Given the description of an element on the screen output the (x, y) to click on. 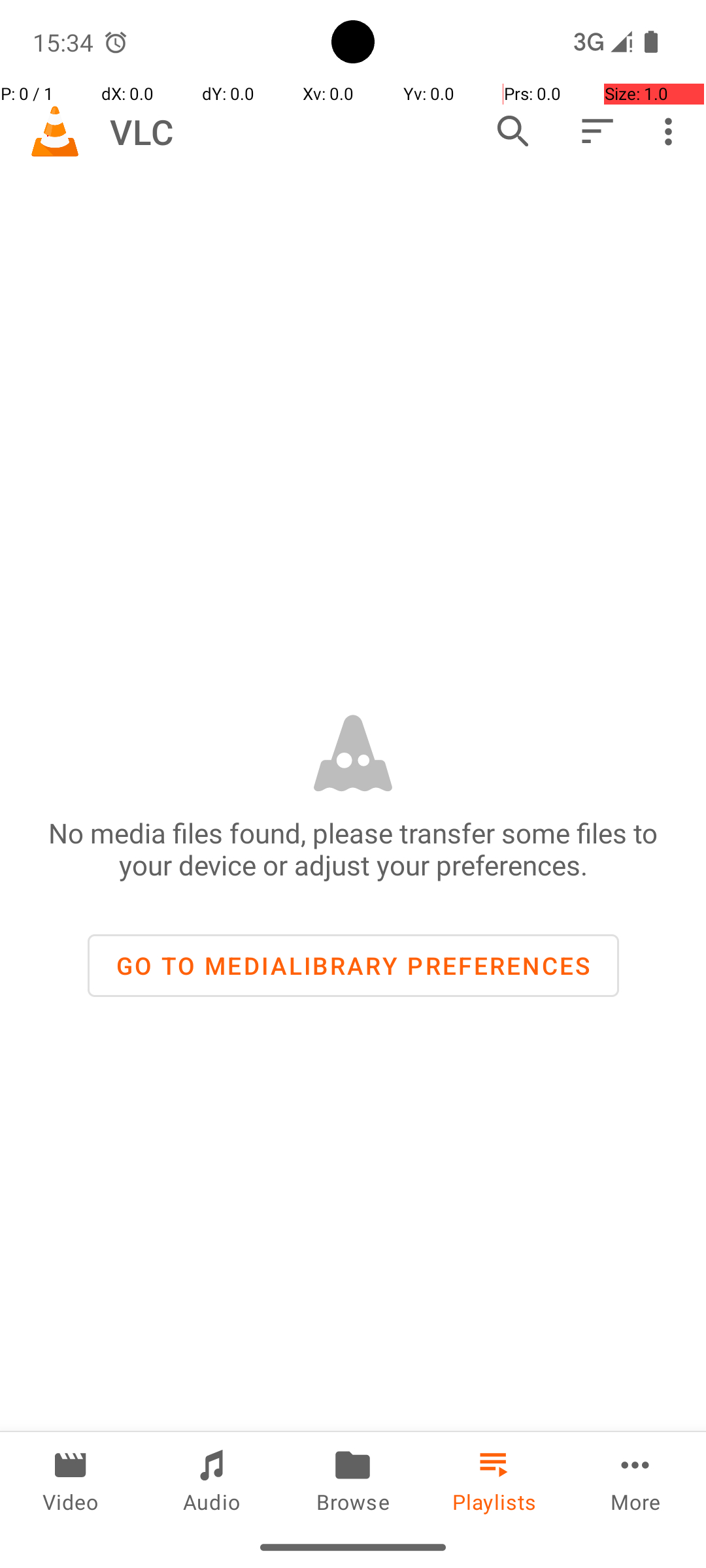
GO TO MEDIALIBRARY PREFERENCES Element type: android.widget.Button (353, 965)
